Given the description of an element on the screen output the (x, y) to click on. 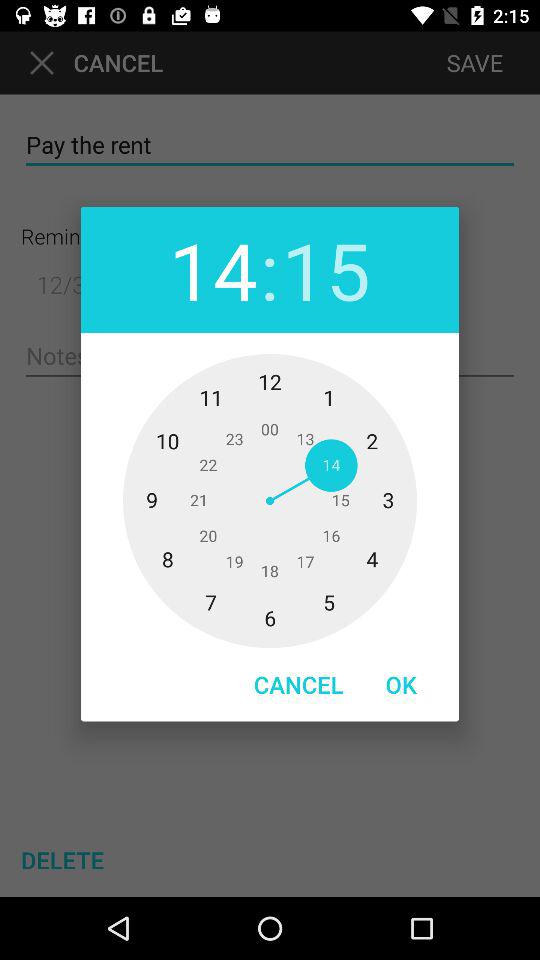
select the cancel at the bottom (298, 684)
